Given the description of an element on the screen output the (x, y) to click on. 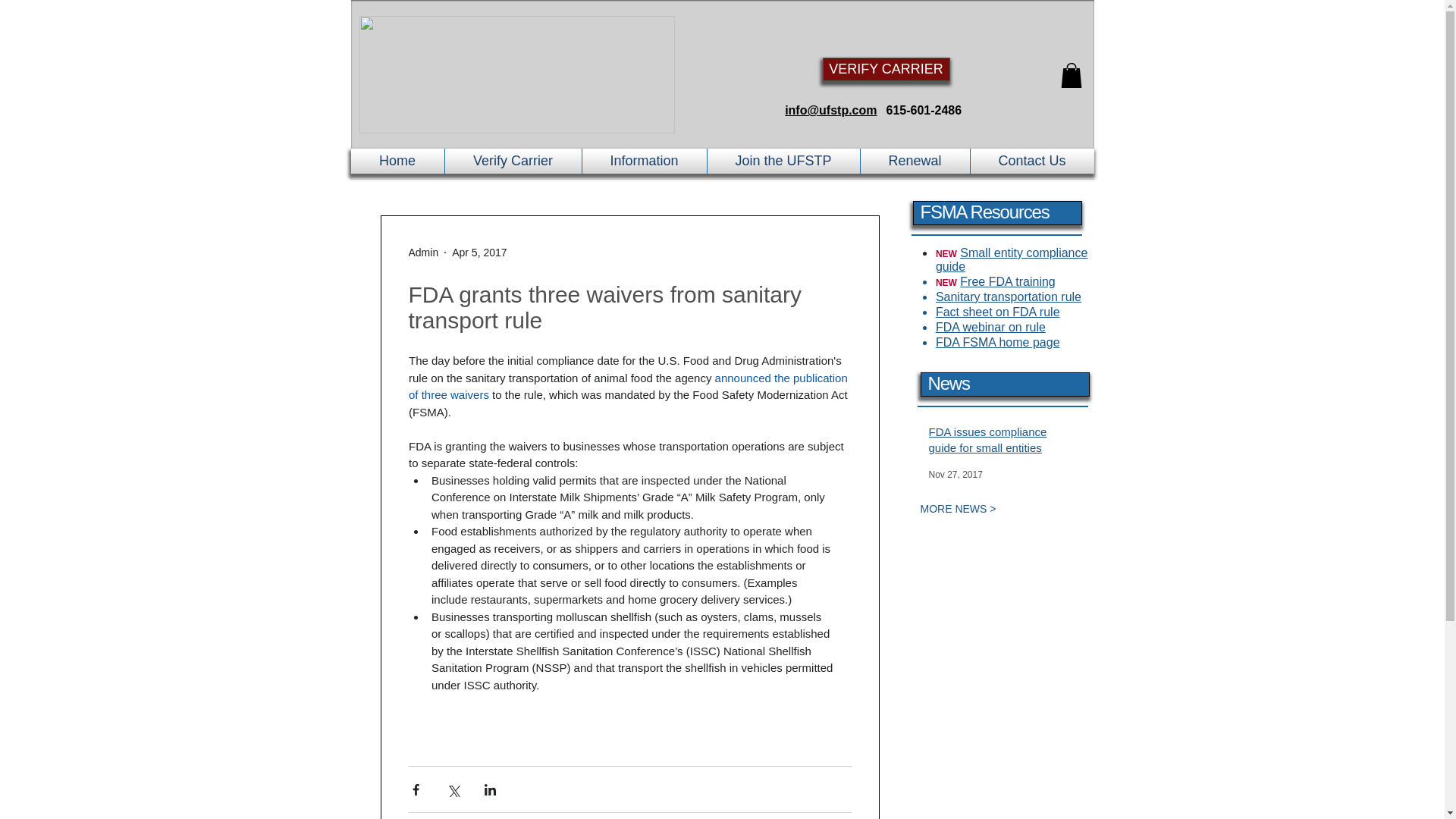
Join the UFSTP (782, 160)
Nov 27, 2017 (954, 474)
Renewal (914, 160)
Apr 5, 2017 (478, 251)
VERIFY CARRIER (885, 69)
FDA FSMA home page (997, 341)
Sanitary transportation rule (1008, 296)
Free FDA training (1006, 281)
Fact sheet on FDA rule (997, 311)
UFSTP logo-3-11-17.jpg (517, 74)
Verify Carrier (512, 160)
Admin (422, 252)
FSMA Resources (984, 211)
Small entity compliance guide (1011, 259)
News (948, 383)
